Given the description of an element on the screen output the (x, y) to click on. 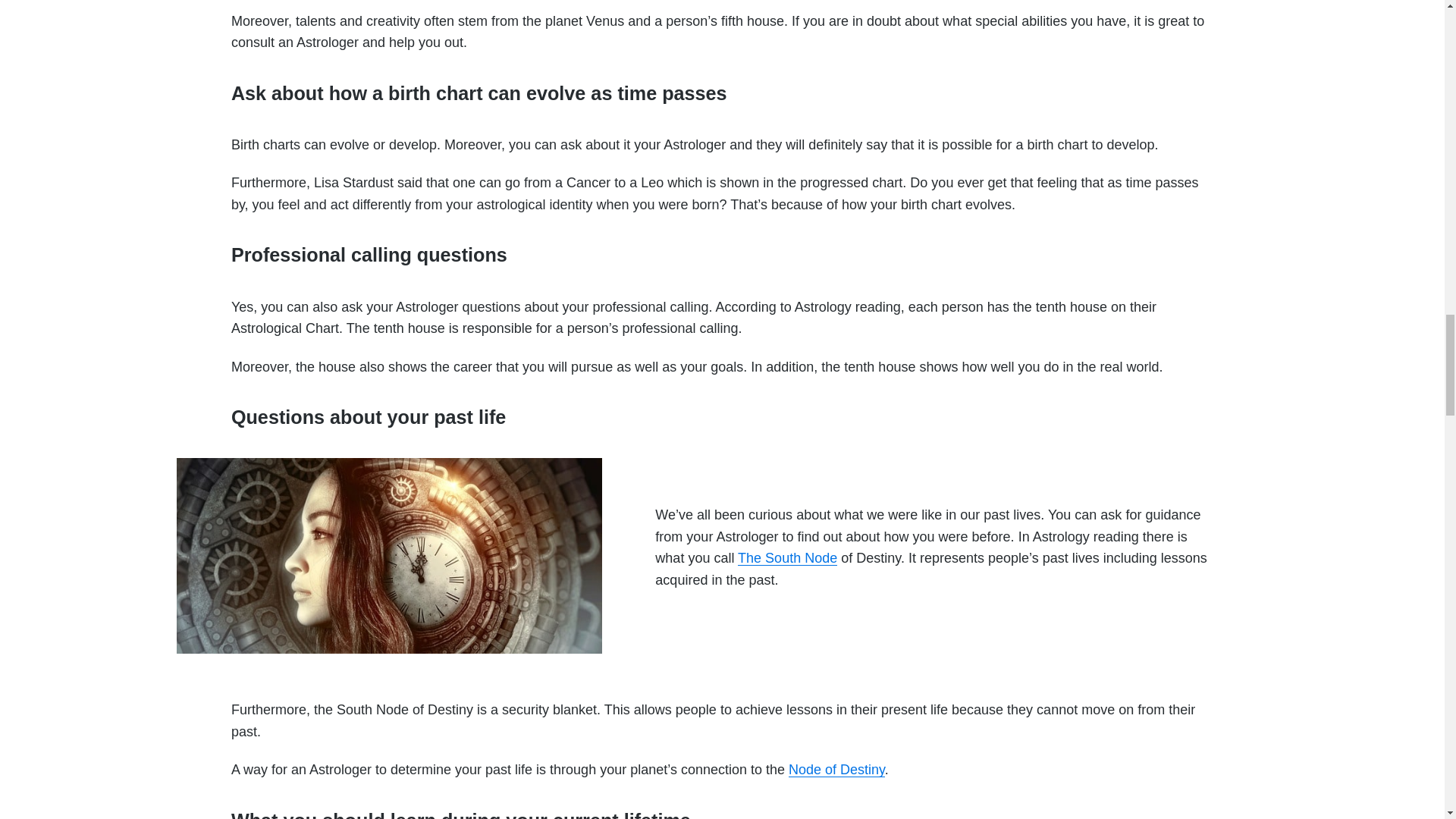
The South Node (787, 557)
Node of Destiny (837, 769)
